Given the description of an element on the screen output the (x, y) to click on. 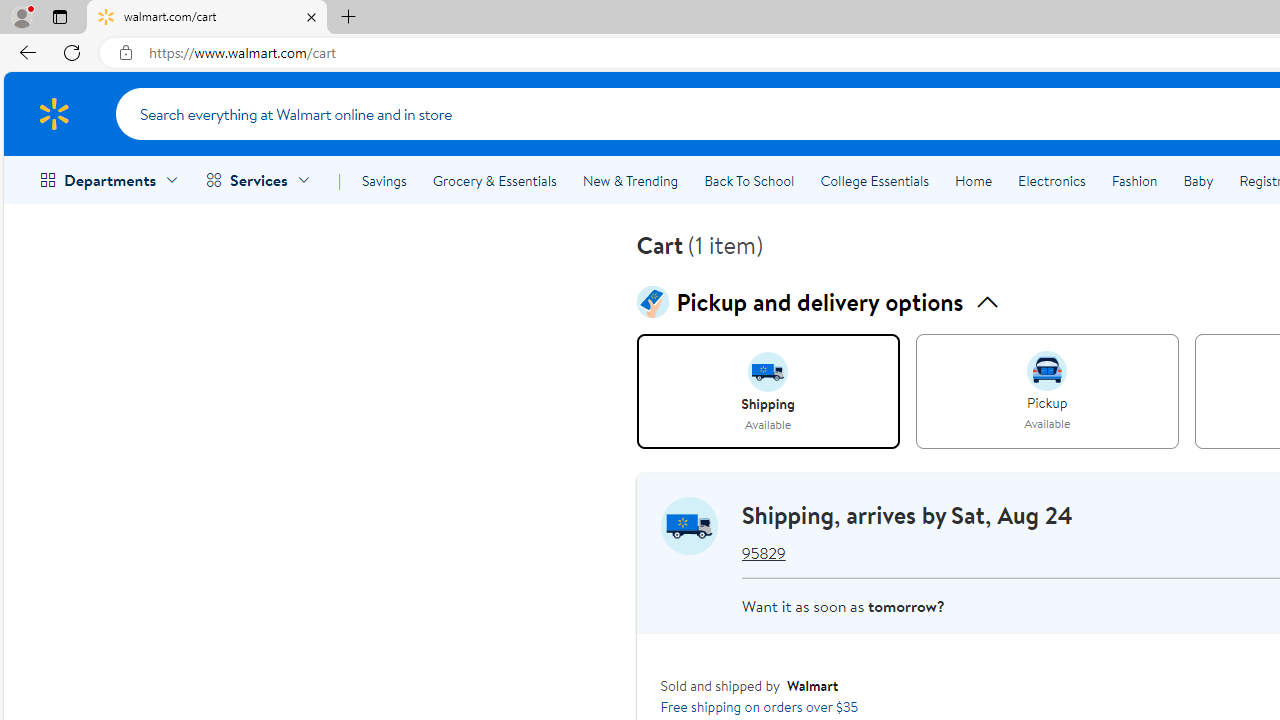
SHIPPING, Available, selected (767, 392)
Fashion (1134, 180)
Savings (384, 180)
intent image for shipping (767, 371)
